Given the description of an element on the screen output the (x, y) to click on. 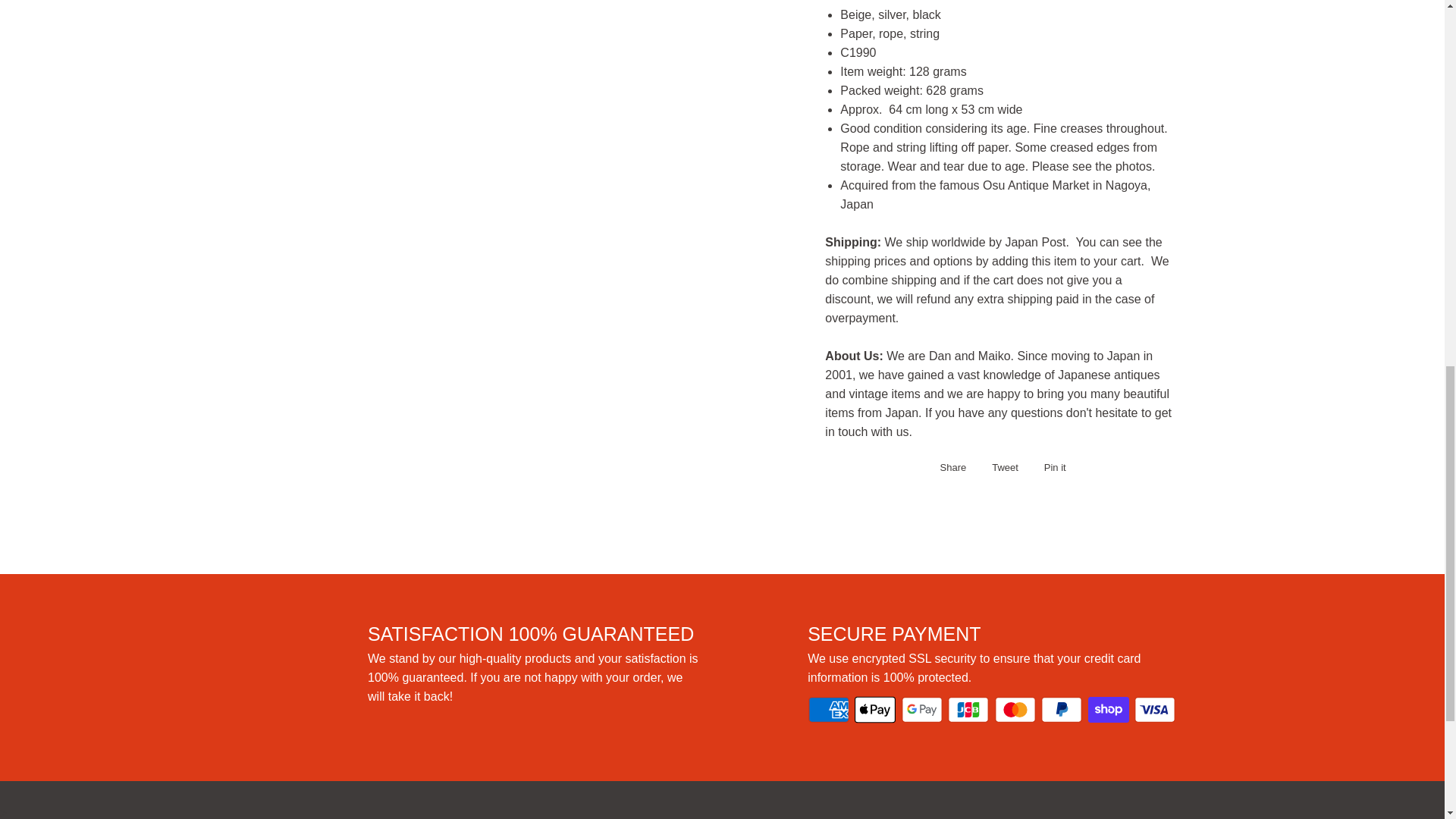
Share on Facebook (949, 467)
Apple Pay (874, 709)
PayPal (1061, 709)
Shop Pay (1108, 709)
Tweet on Twitter (1001, 467)
Mastercard (1014, 709)
Pin on Pinterest (1051, 467)
Google Pay (921, 709)
Visa (1154, 709)
JCB (967, 709)
American Express (828, 709)
